Given the description of an element on the screen output the (x, y) to click on. 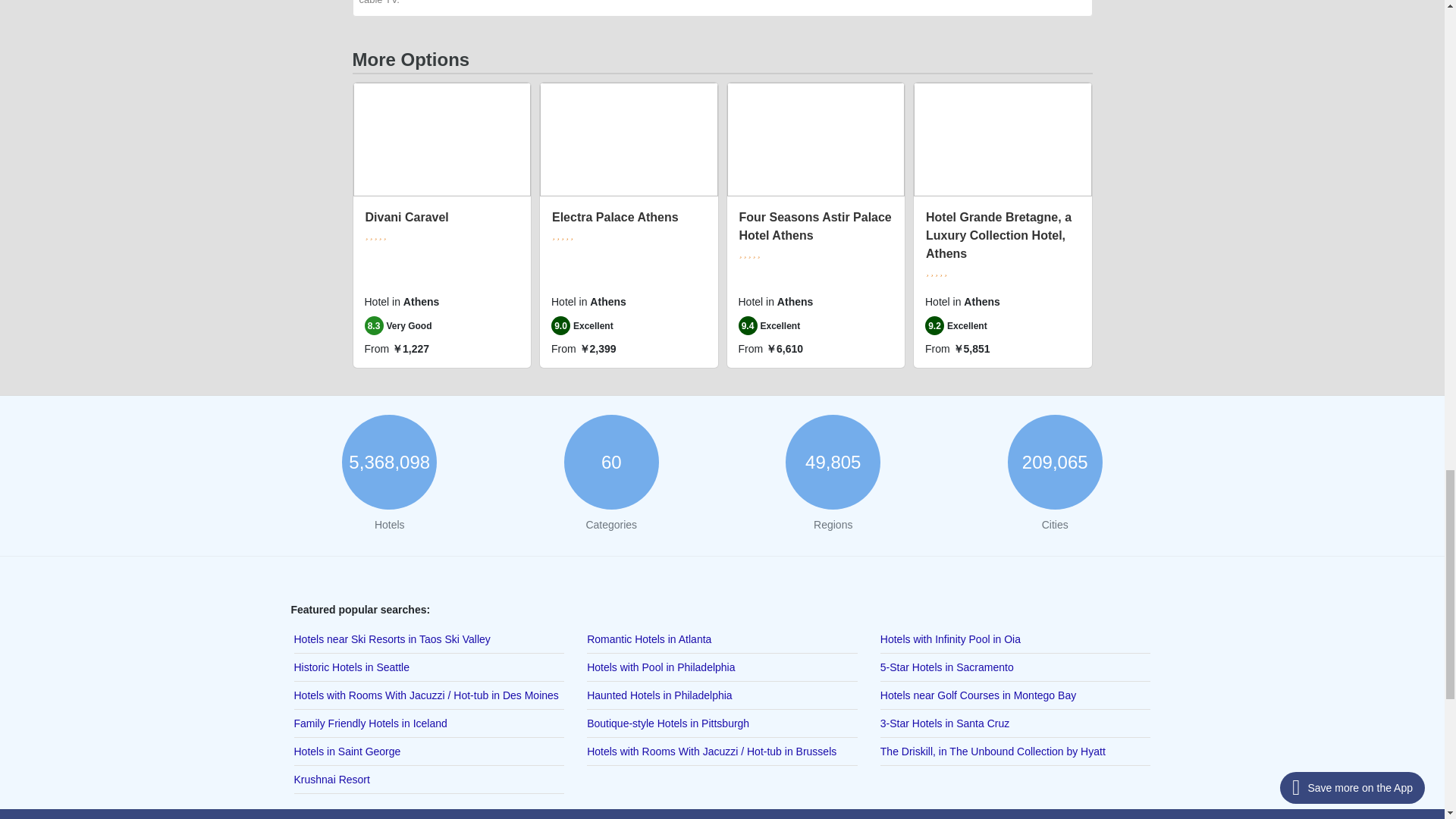
Four Seasons Astir Palace Hotel Athens (814, 225)
Hotel Grande Bretagne, a Luxury Collection Hotel, Athens (998, 235)
Electra Palace Athens (614, 216)
Electra Palace Athens (614, 216)
Divani Caravel (406, 216)
Divani Caravel (406, 216)
